Given the description of an element on the screen output the (x, y) to click on. 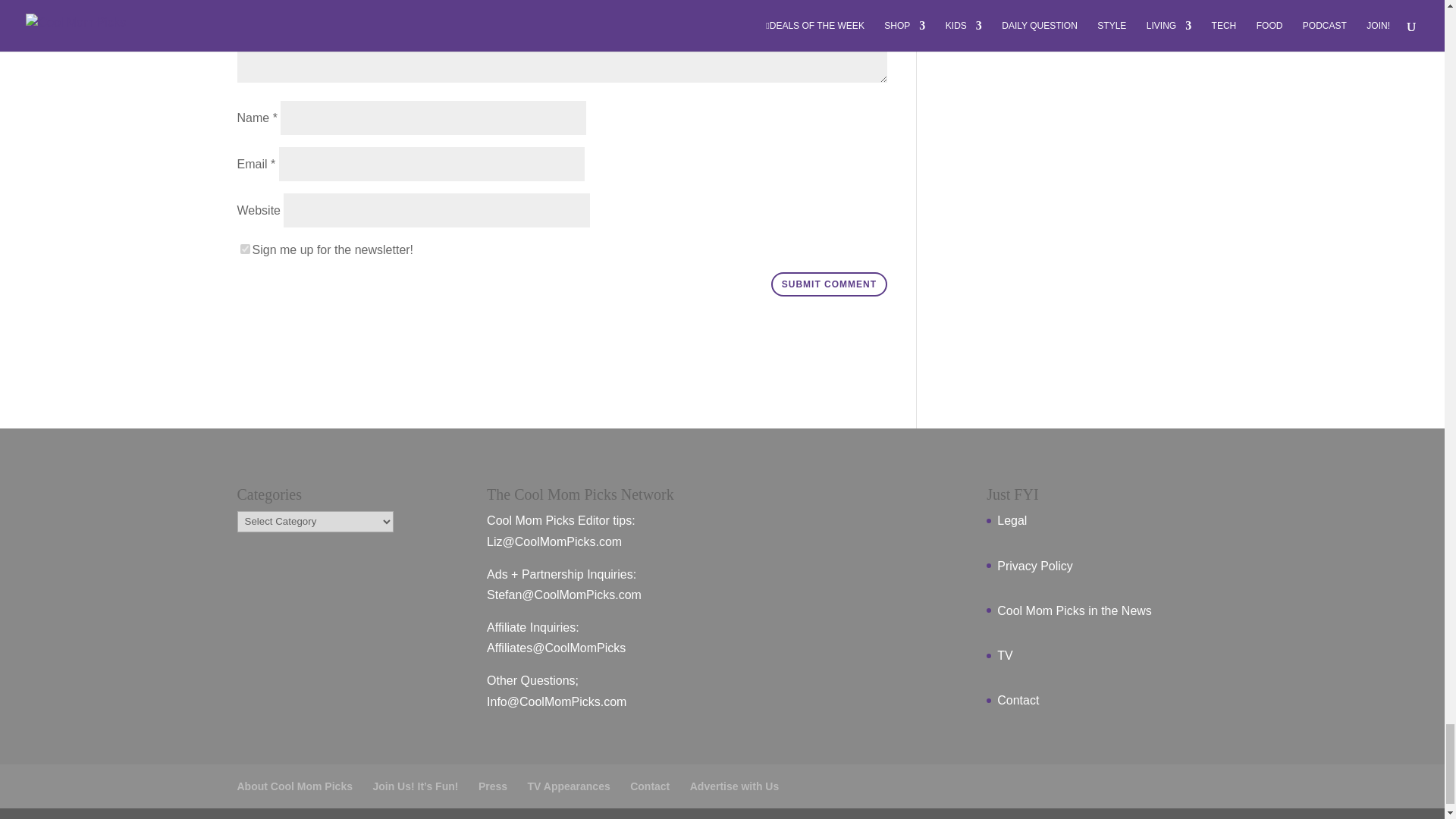
1 (244, 248)
Submit Comment (828, 283)
